Given the description of an element on the screen output the (x, y) to click on. 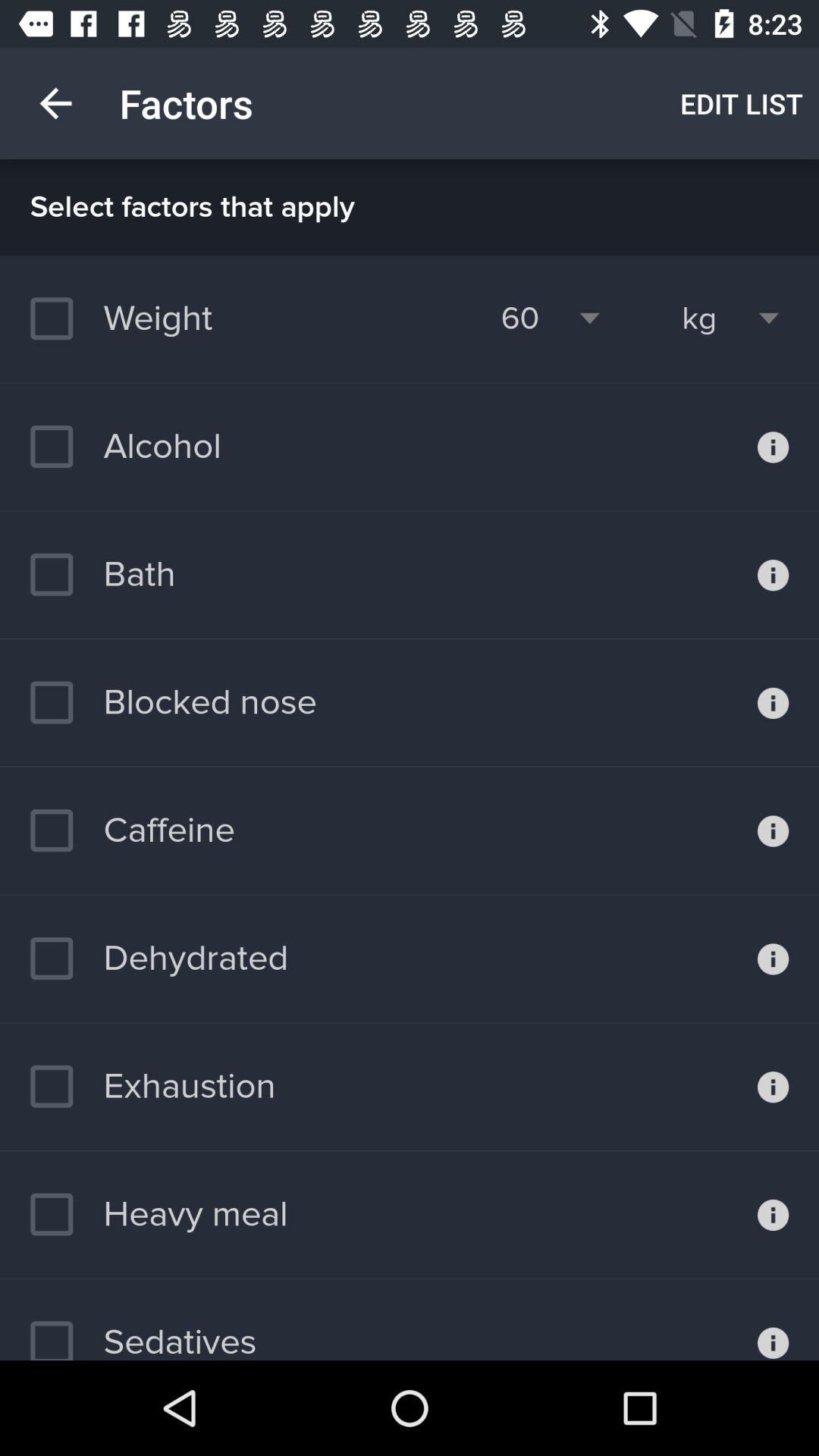
select kg icon (698, 318)
